Given the description of an element on the screen output the (x, y) to click on. 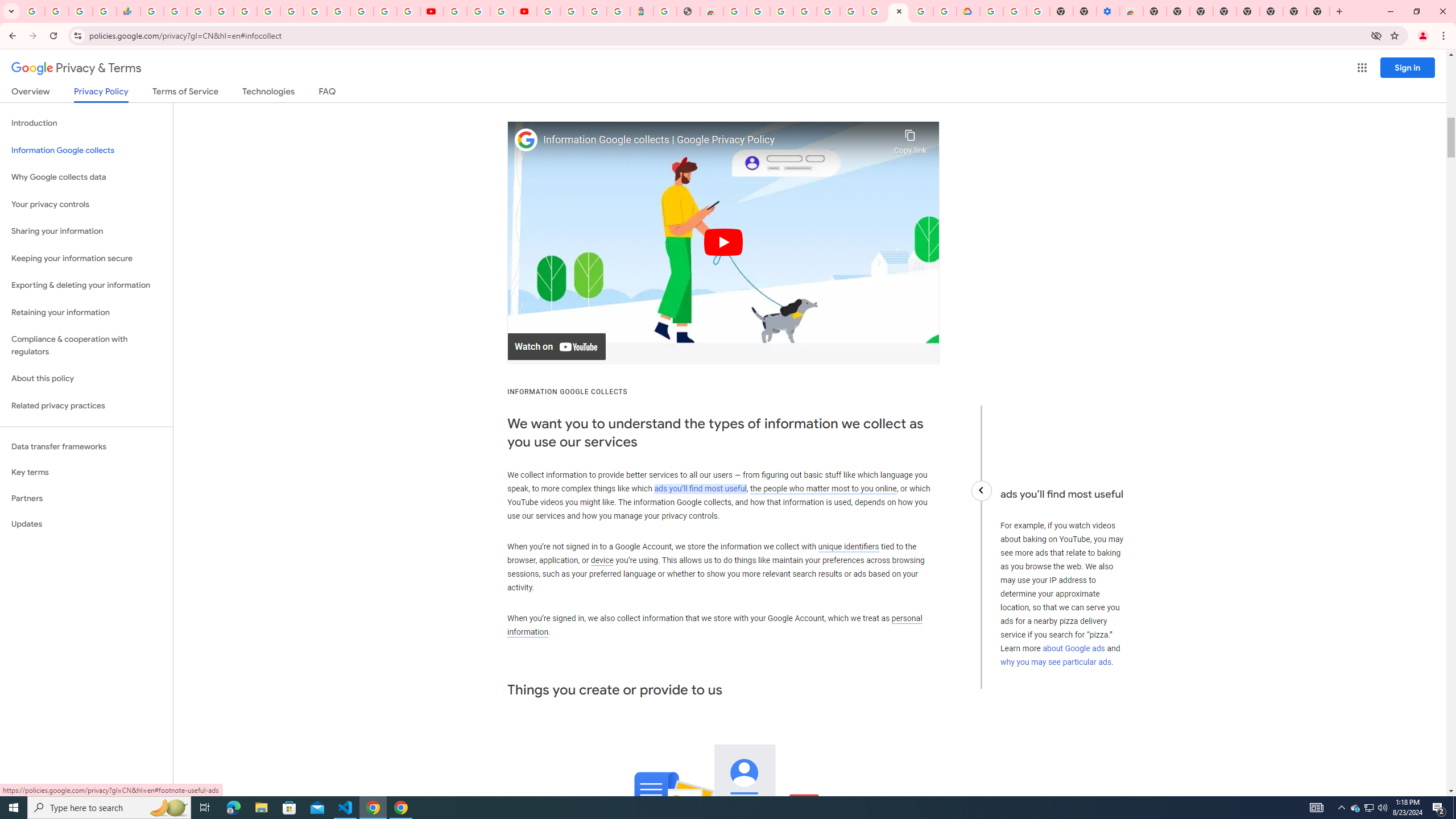
Android TV Policies and Guidelines - Transparency Center (291, 11)
Sharing your information (86, 230)
unique identifiers (848, 546)
Create your Google Account (501, 11)
Copy link (909, 139)
